Given the description of an element on the screen output the (x, y) to click on. 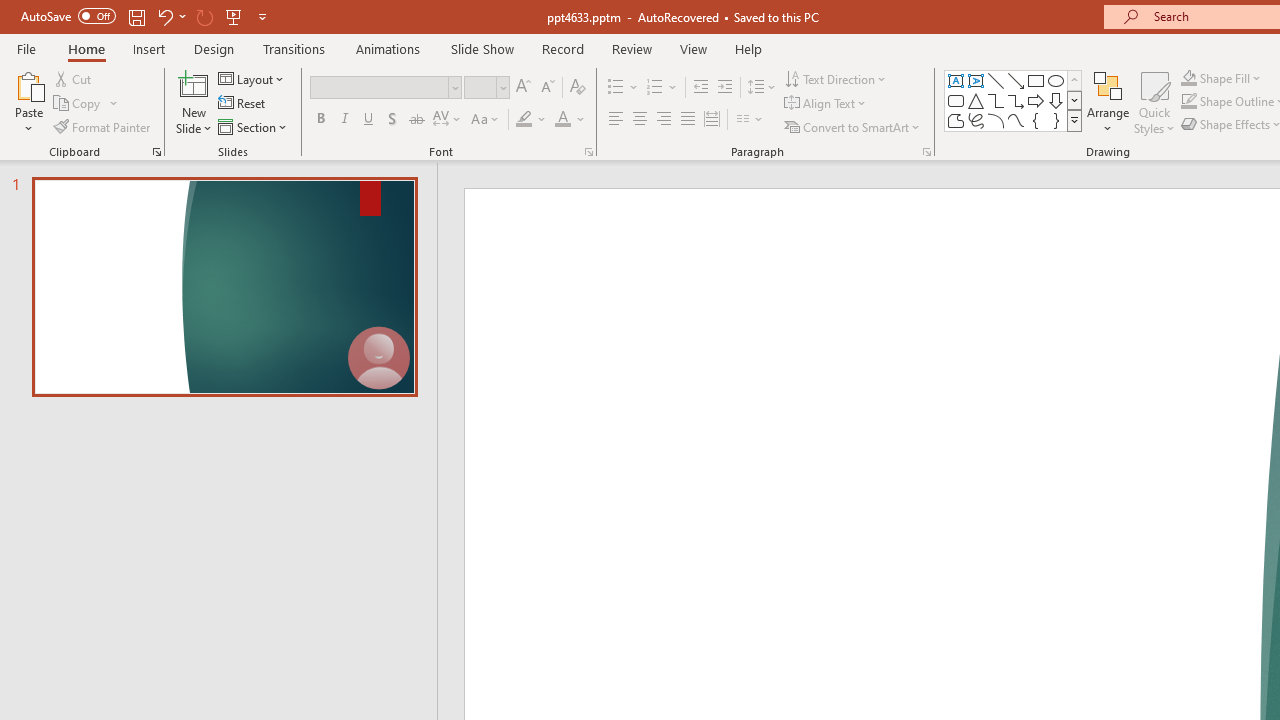
Shadow (392, 119)
Paragraph... (926, 151)
Character Spacing (447, 119)
Center (639, 119)
Shape Fill Orange, Accent 2 (1188, 78)
AutomationID: ShapesInsertGallery (1014, 100)
Rectangle (1035, 80)
Line Spacing (762, 87)
Shape Fill (1221, 78)
